Given the description of an element on the screen output the (x, y) to click on. 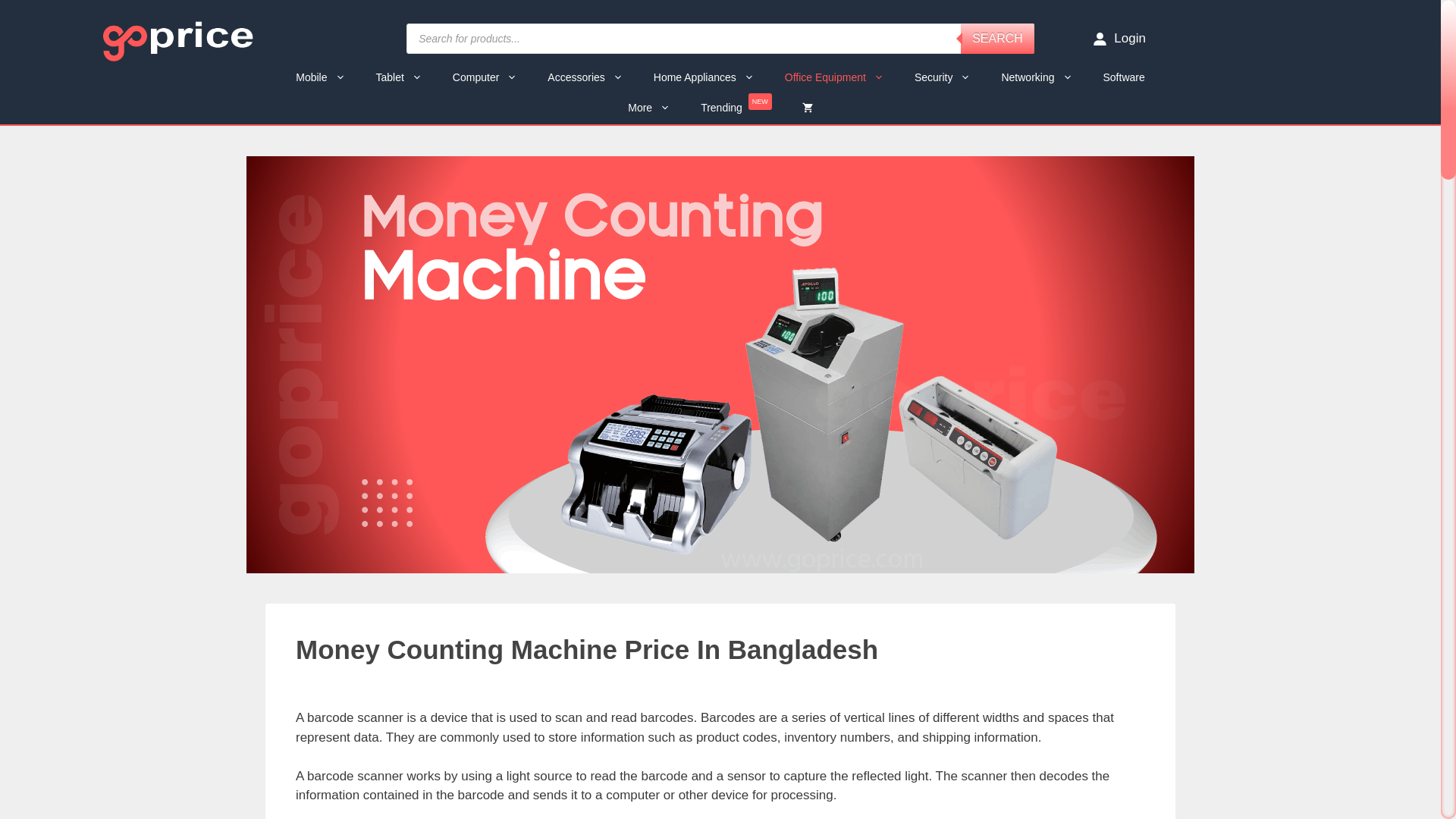
Tablet (399, 77)
Login (1119, 38)
View your shopping cart (807, 107)
SEARCH (996, 38)
Mobile (320, 77)
Computer (485, 77)
